Given the description of an element on the screen output the (x, y) to click on. 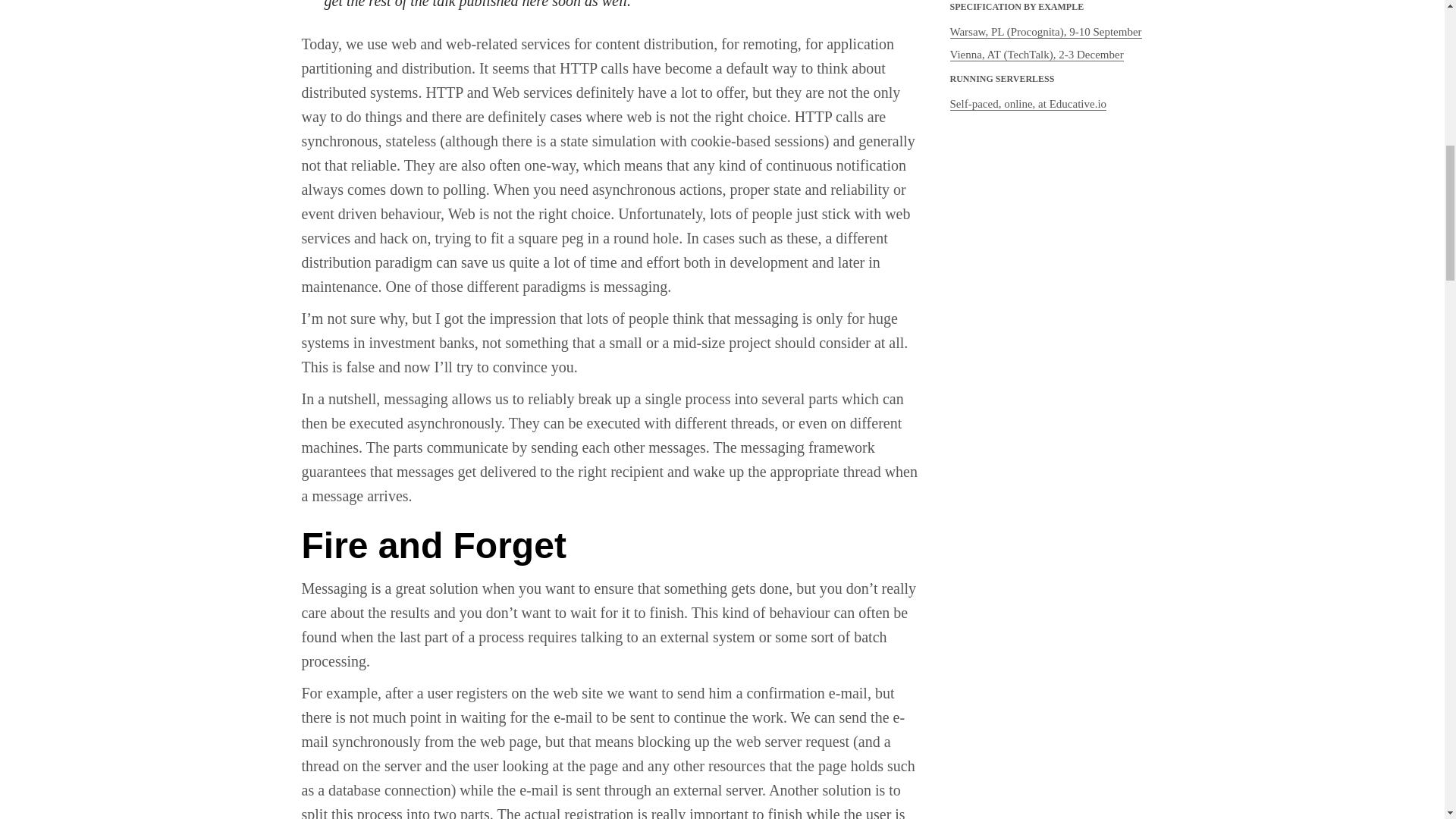
Self-paced, online, at Educative.io (1027, 103)
